Given the description of an element on the screen output the (x, y) to click on. 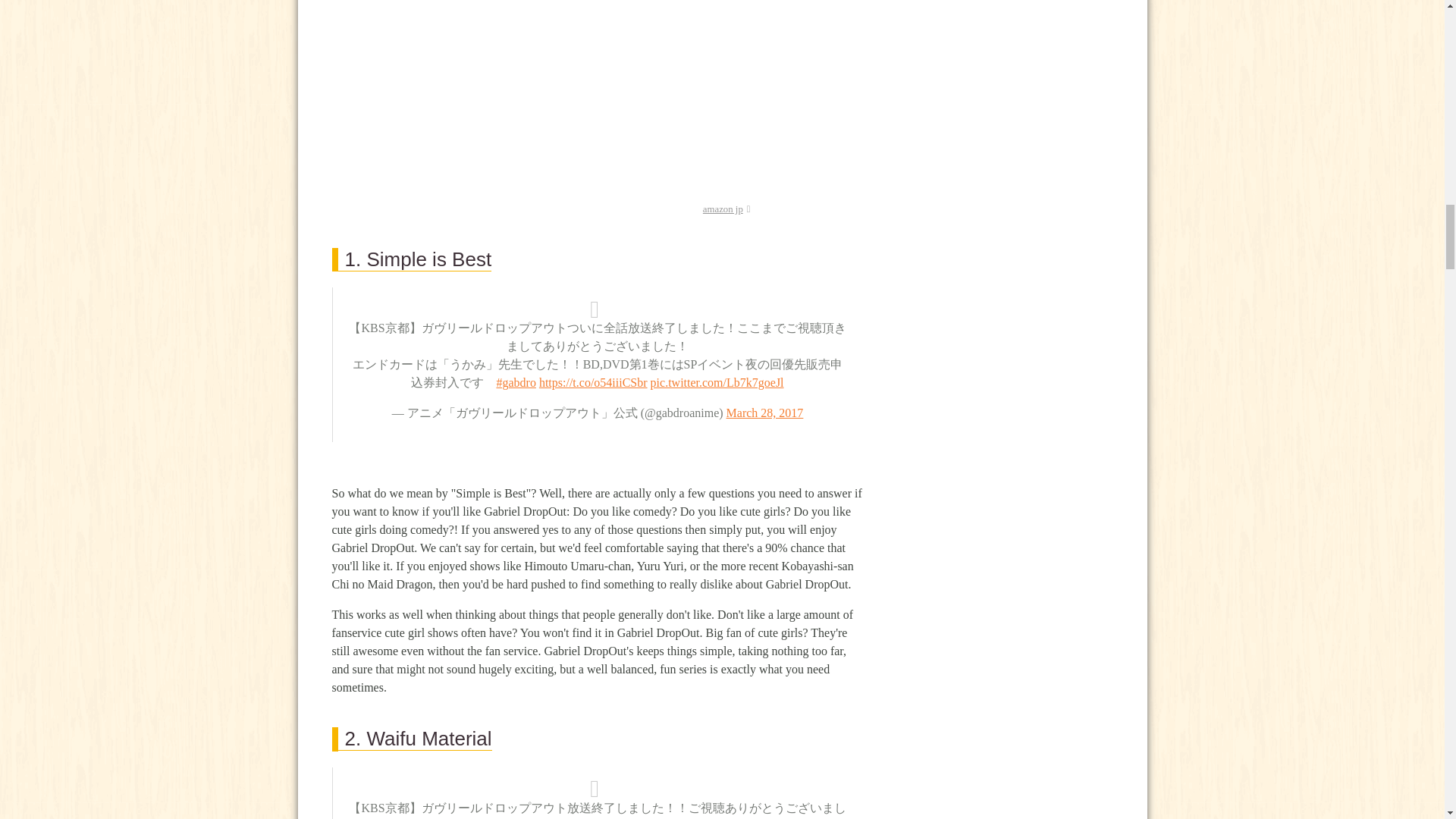
amazon jp (727, 208)
March 28, 2017 (764, 412)
